Given the description of an element on the screen output the (x, y) to click on. 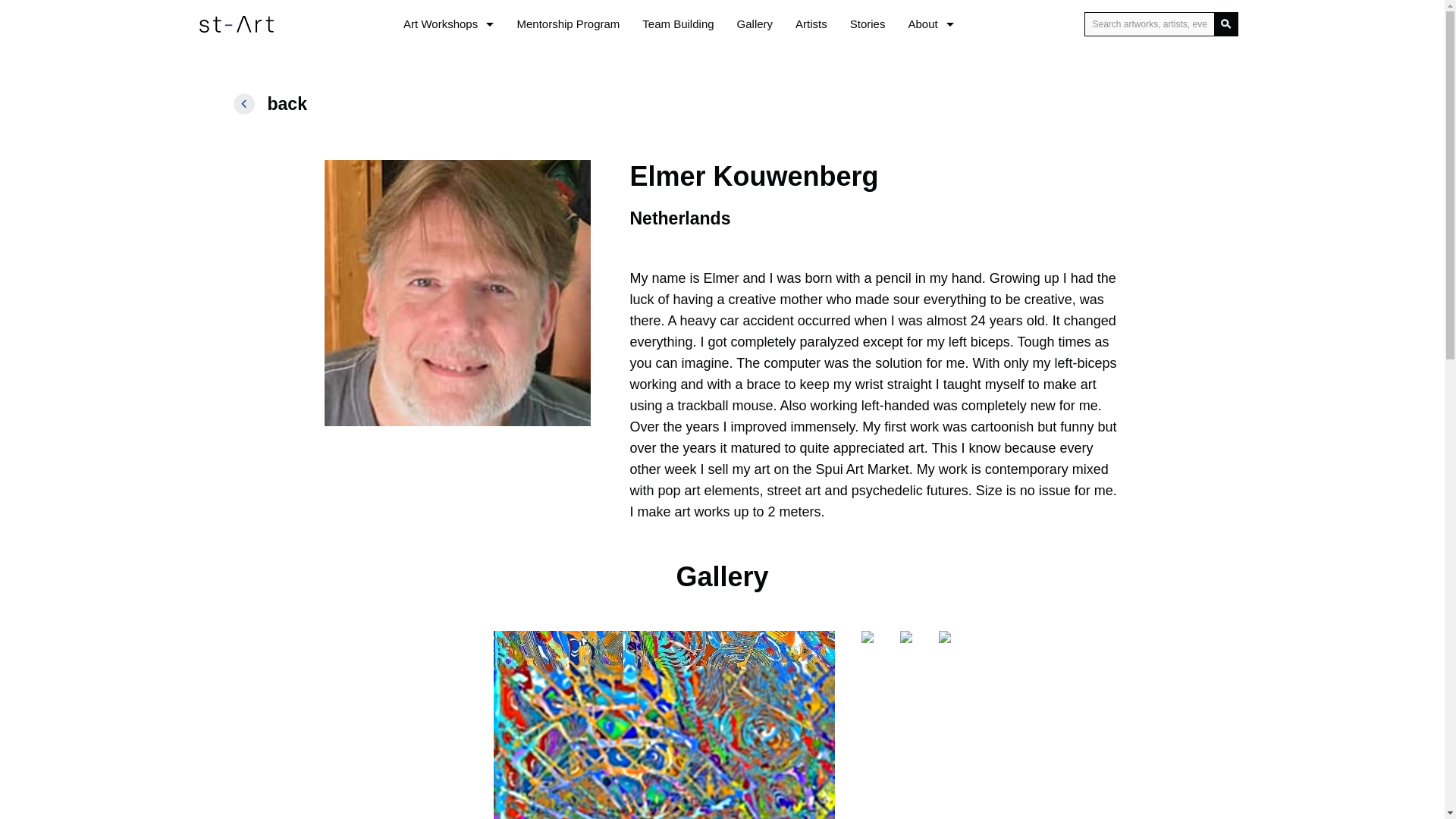
Team Building (677, 23)
Art Workshops (448, 23)
Artists (811, 23)
Mentorship Program (567, 23)
Stories (867, 23)
About (929, 23)
Gallery (754, 23)
back (281, 103)
